Given the description of an element on the screen output the (x, y) to click on. 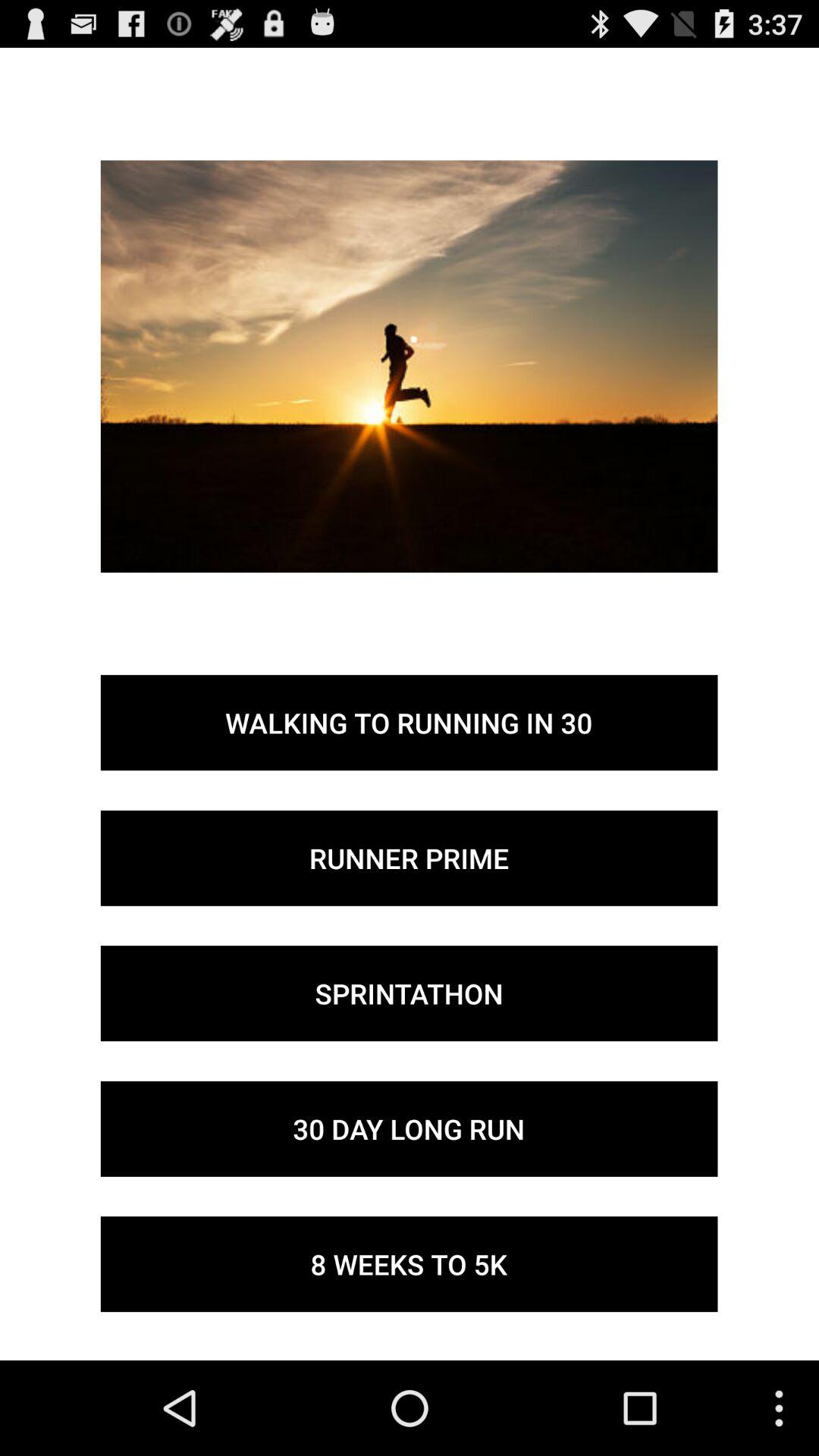
turn off the runner prime button (408, 858)
